Given the description of an element on the screen output the (x, y) to click on. 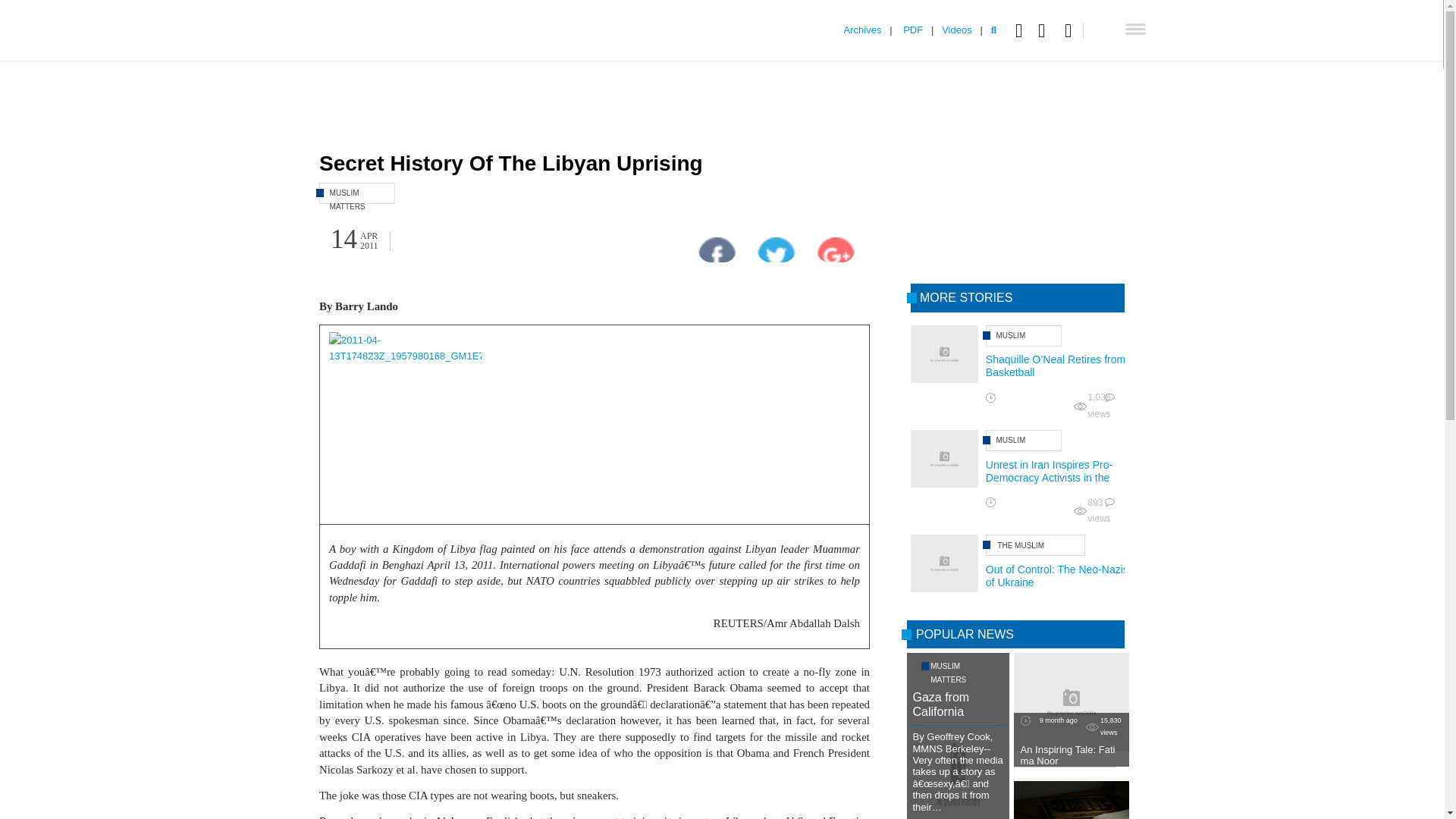
Instagram (1073, 29)
Twitter (1045, 29)
Facebook (1021, 29)
PDF (912, 30)
